Given the description of an element on the screen output the (x, y) to click on. 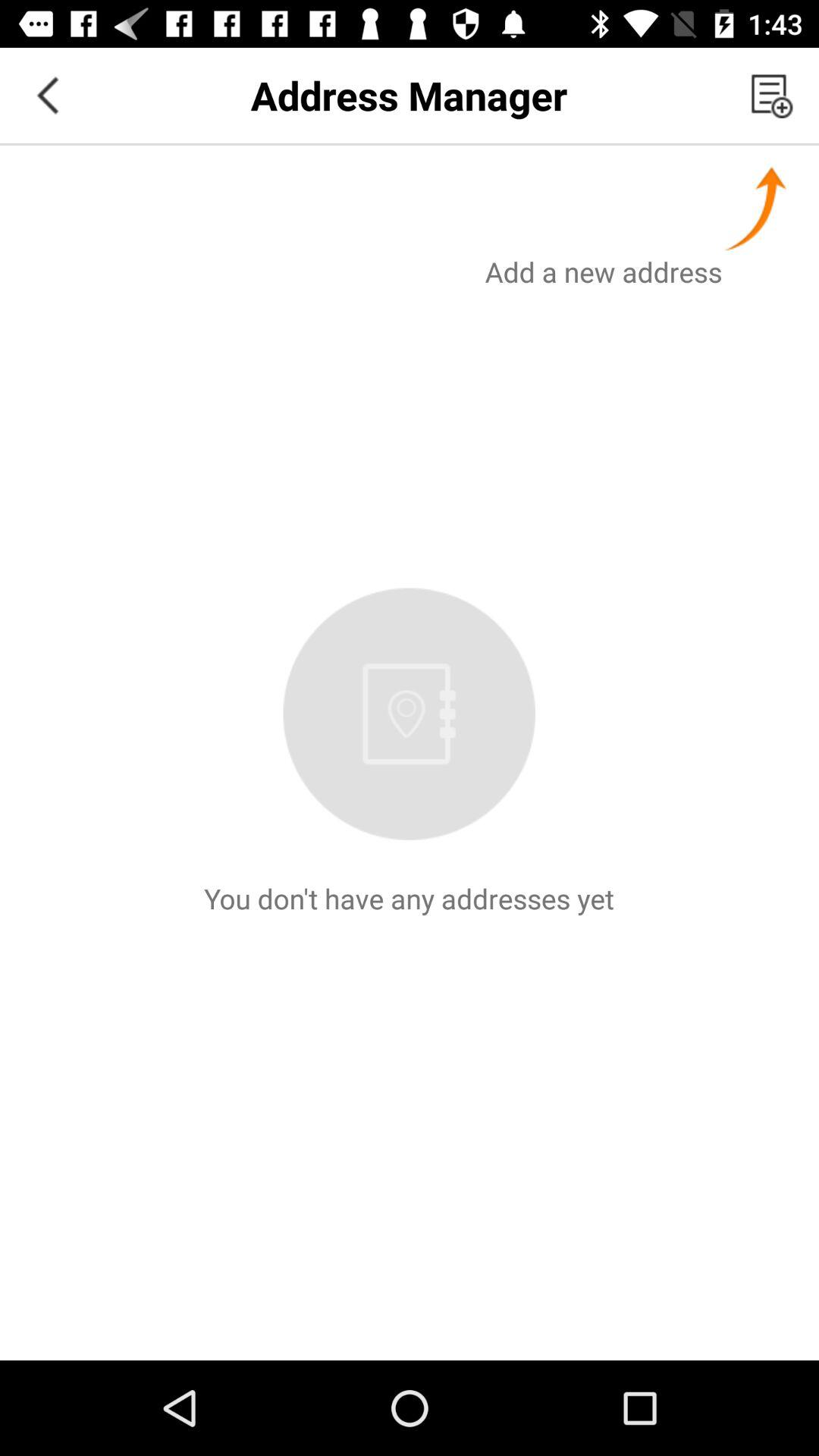
back button (47, 95)
